Given the description of an element on the screen output the (x, y) to click on. 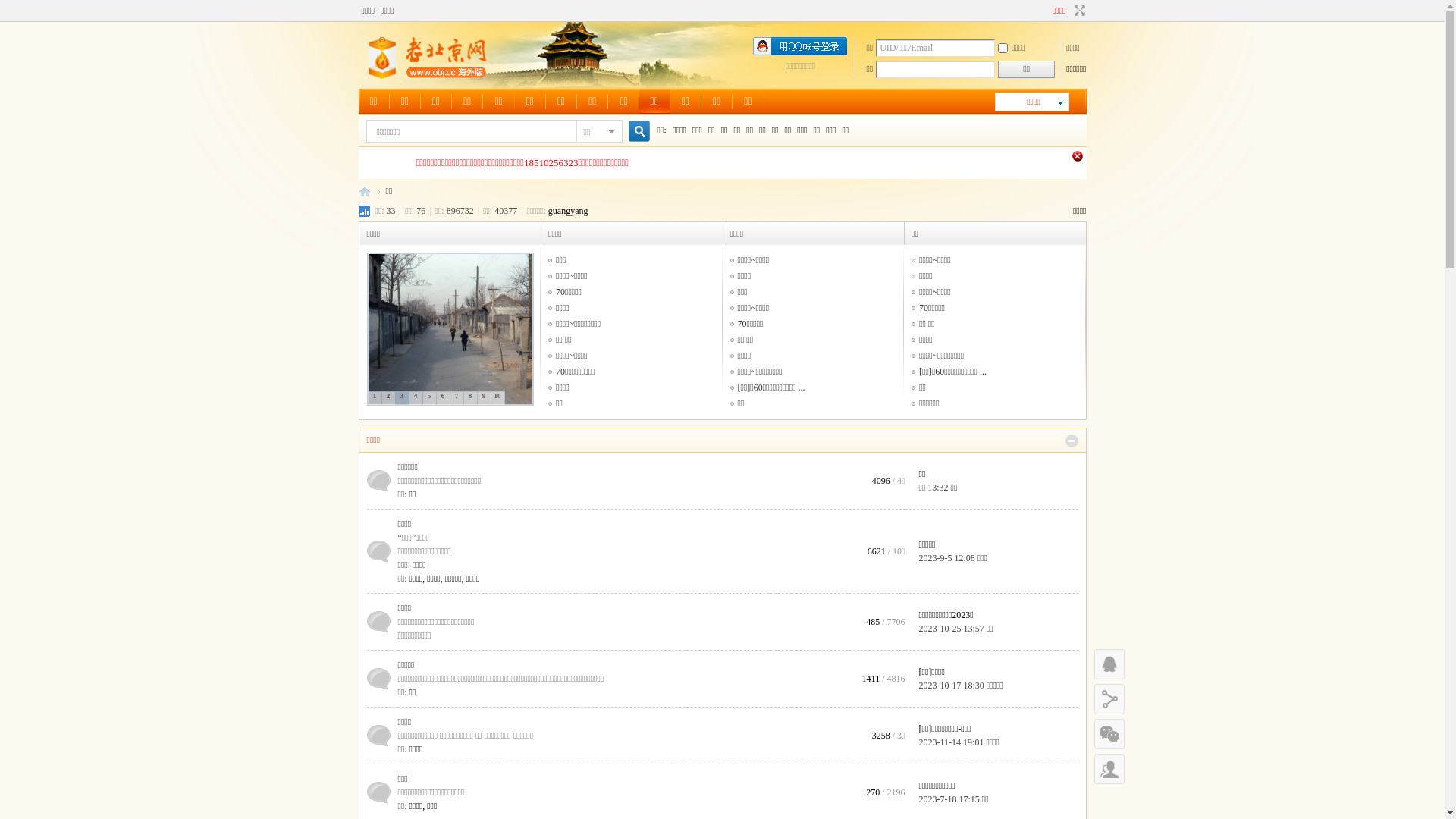
guangyang Element type: text (568, 210)
true Element type: text (632, 131)
